Given the description of an element on the screen output the (x, y) to click on. 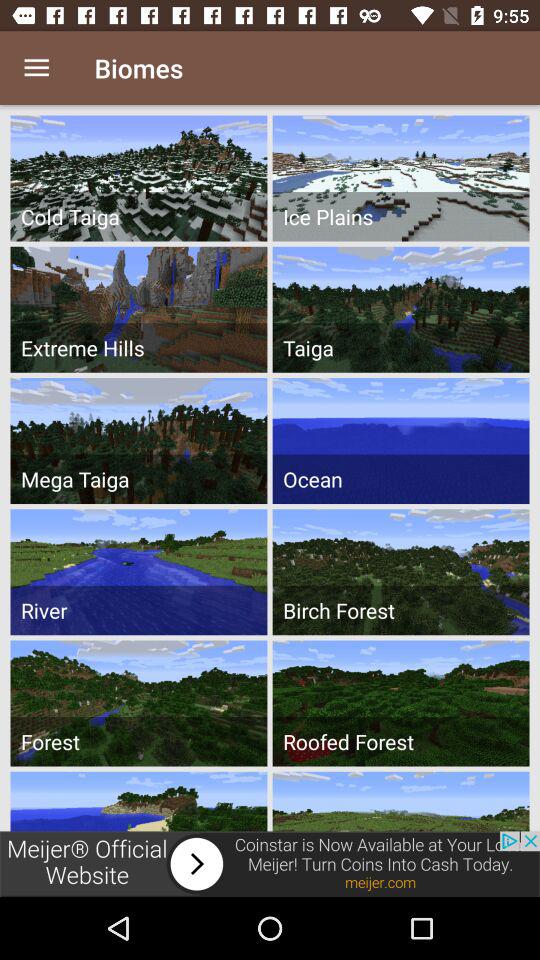
view the advertisement (270, 864)
